Given the description of an element on the screen output the (x, y) to click on. 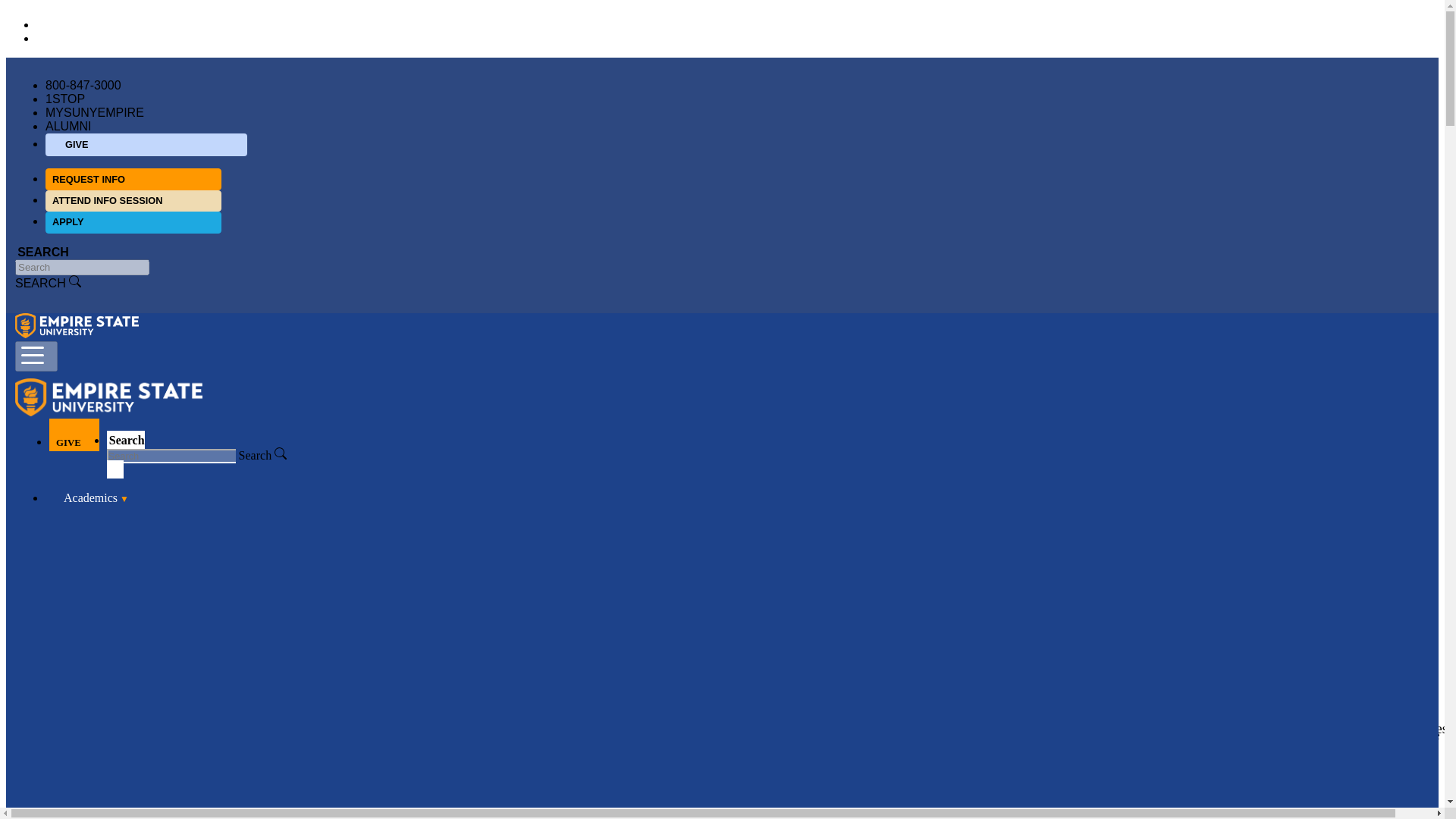
800-847-3000 (82, 84)
ALUMNI (67, 125)
Academics (87, 495)
GIVE (146, 144)
1STOP (64, 98)
APPLY (133, 221)
Call SUNY Empire State University (82, 84)
MYSUNYEMPIRE (94, 112)
SEARCH (47, 281)
Search (262, 454)
GIVE (74, 434)
ATTEND INFO SESSION (133, 200)
REQUEST INFO (133, 178)
